Given the description of an element on the screen output the (x, y) to click on. 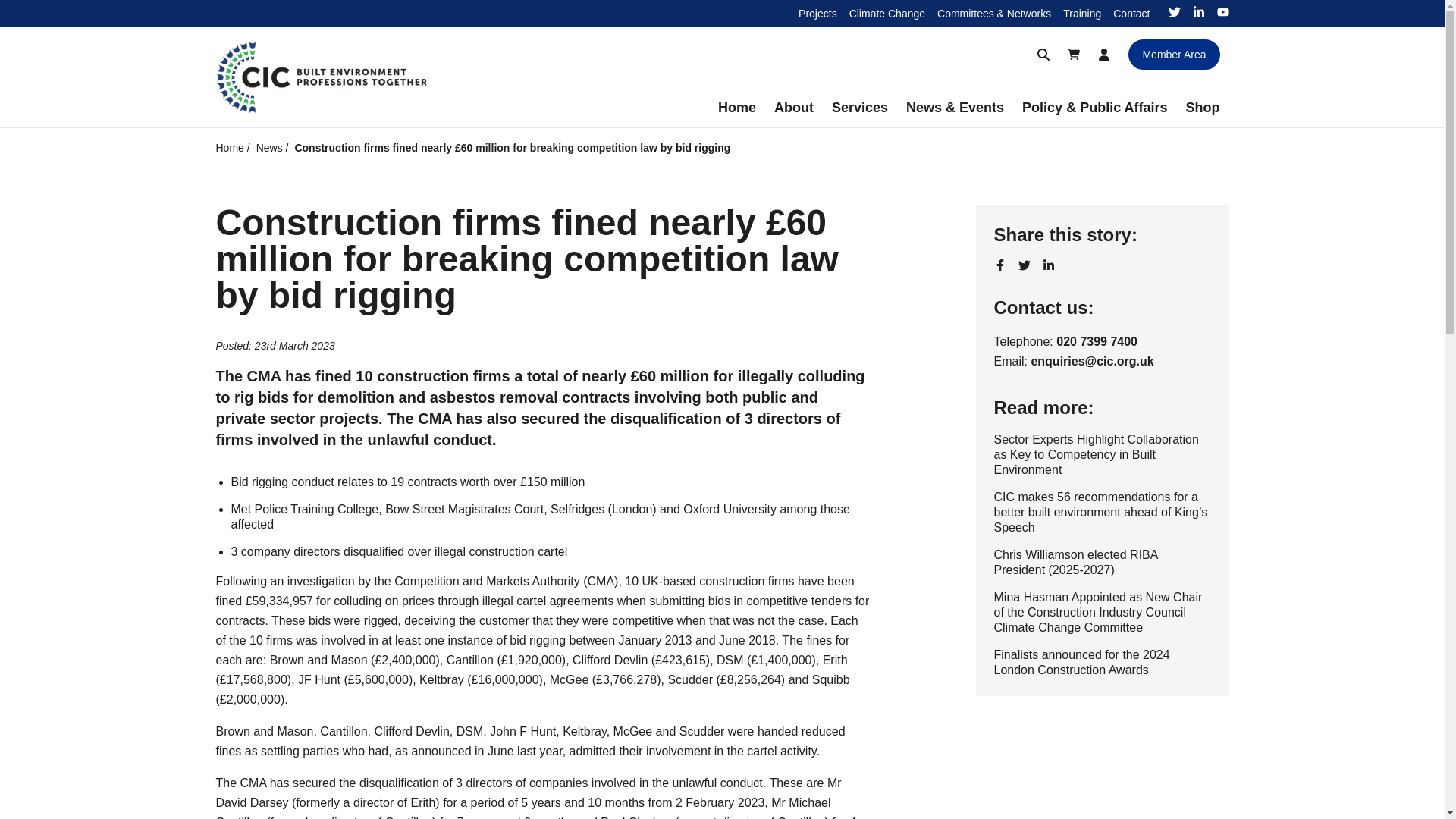
Climate Change (886, 13)
My Account (1103, 54)
Projects (817, 13)
Home (737, 107)
Share on Facebook (999, 265)
About (793, 107)
Contact (1131, 13)
Member Area (1174, 54)
Cart (1073, 54)
Share on LinkedIn (1048, 265)
Share on Twitter (1023, 265)
Services (859, 107)
Search (1042, 54)
Training (1081, 13)
